Given the description of an element on the screen output the (x, y) to click on. 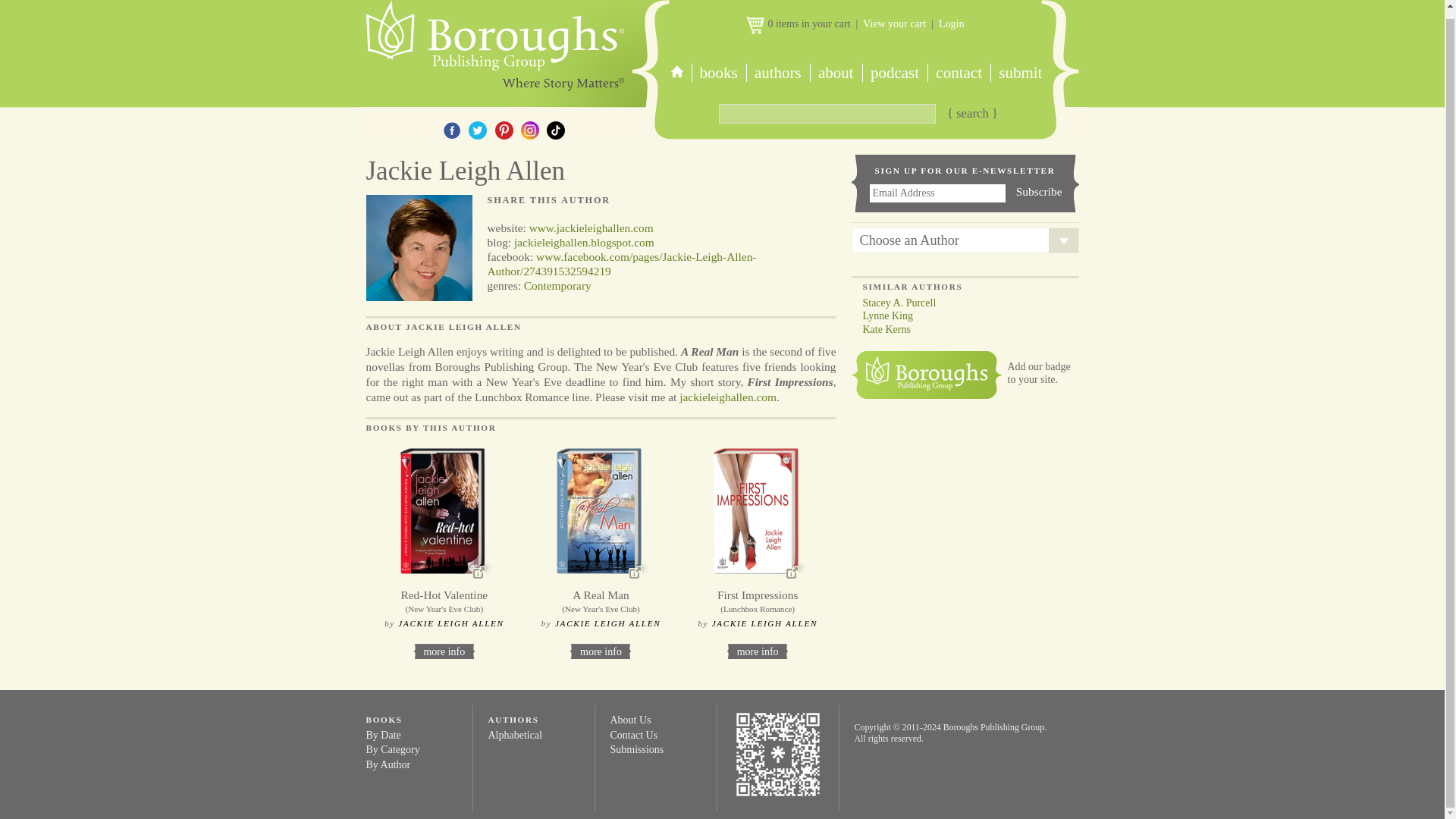
about (835, 72)
submit (1019, 72)
podcast (893, 72)
jackieleighallen.blogspot.com (583, 241)
www.jackieleighallen.com (591, 227)
Contemporary (557, 285)
Enter the terms you wish to search for. (827, 113)
Home (493, 45)
contact (958, 72)
JACKIE LEIGH ALLEN (450, 623)
View your cart (894, 23)
jackieleighallen.com (727, 396)
Login (951, 23)
authors (777, 72)
